Given the description of an element on the screen output the (x, y) to click on. 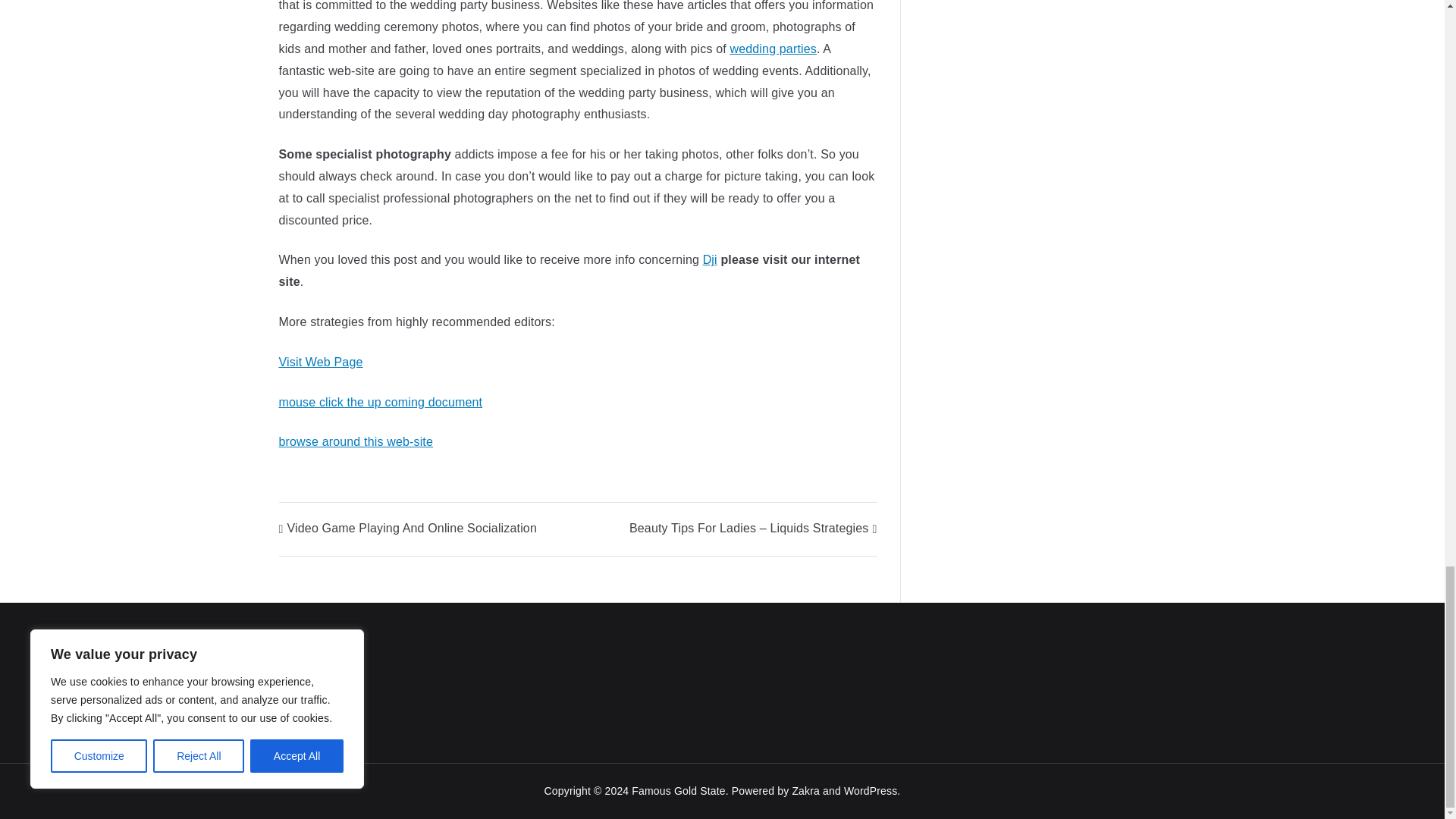
browse around this web-site (356, 440)
Visit Web Page (320, 361)
Video Game Playing And Online Socialization (408, 527)
Zakra (805, 790)
mouse click the up coming document (381, 401)
wedding parties (772, 48)
WordPress (870, 790)
Famous Gold State (678, 790)
Dji (710, 259)
